Given the description of an element on the screen output the (x, y) to click on. 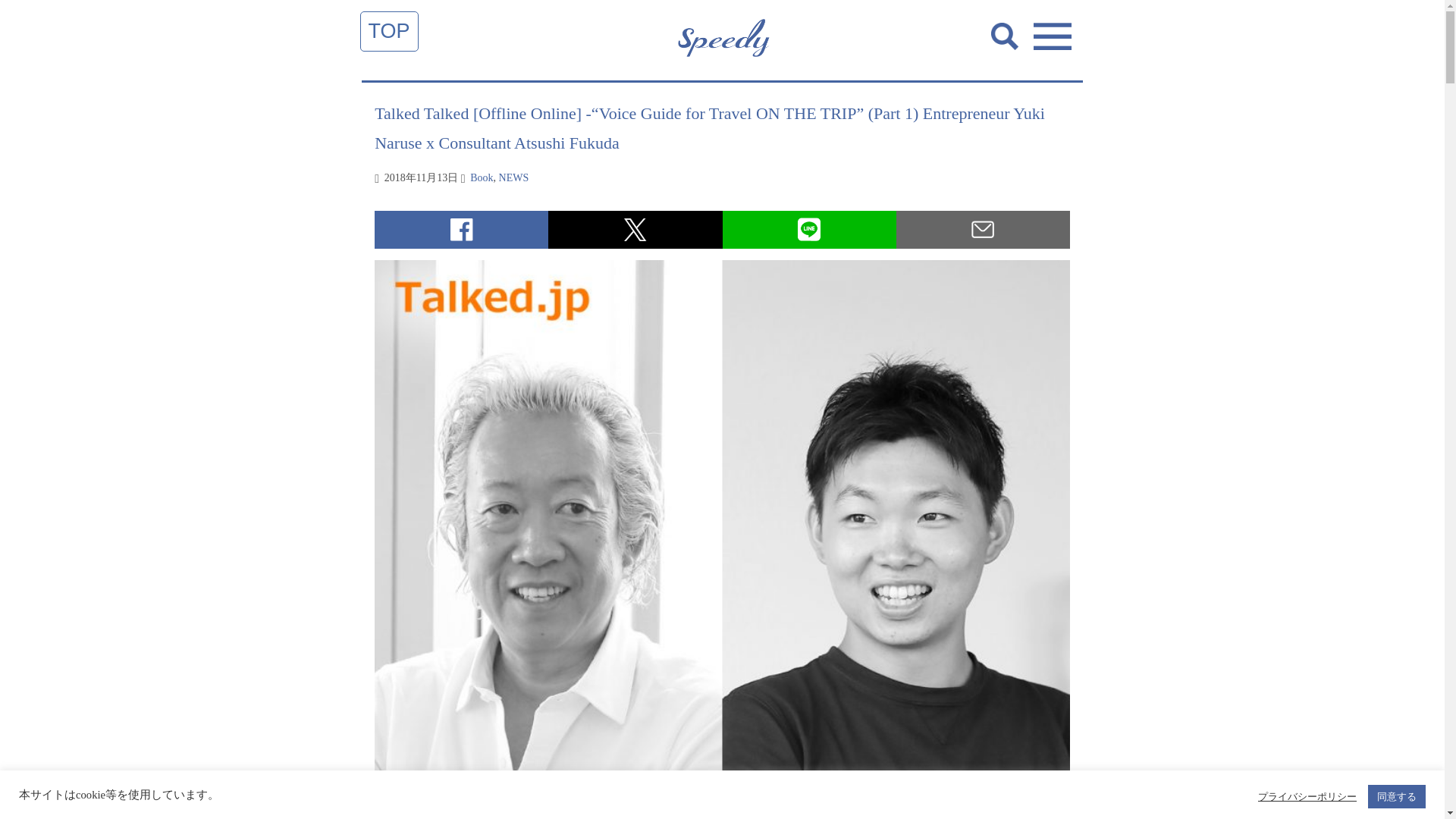
TOP (389, 30)
Book (481, 177)
NEWS (514, 177)
